Given the description of an element on the screen output the (x, y) to click on. 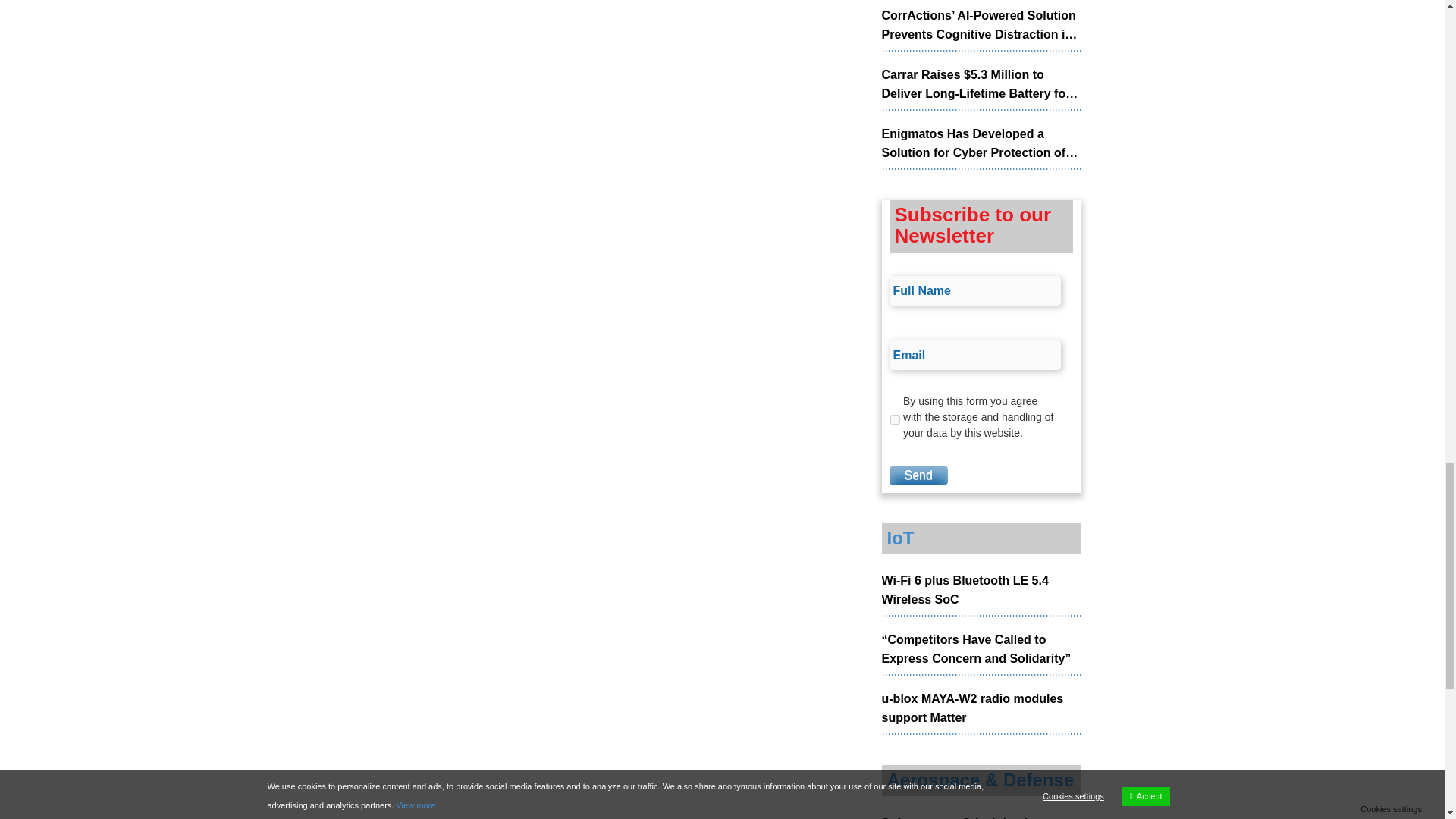
Send (917, 475)
true (894, 419)
